Given the description of an element on the screen output the (x, y) to click on. 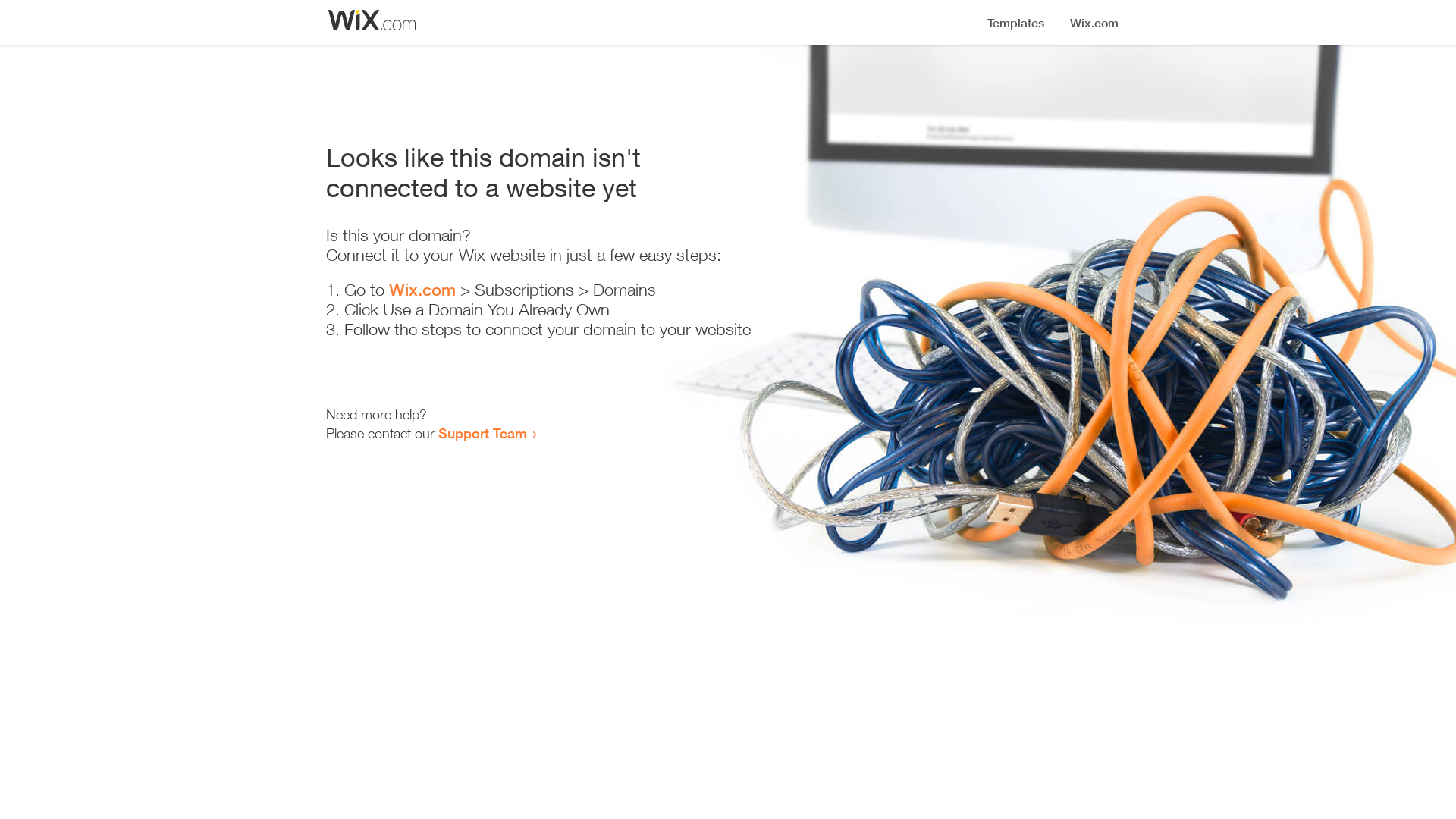
Wix.com Element type: text (422, 289)
Support Team Element type: text (482, 432)
